Given the description of an element on the screen output the (x, y) to click on. 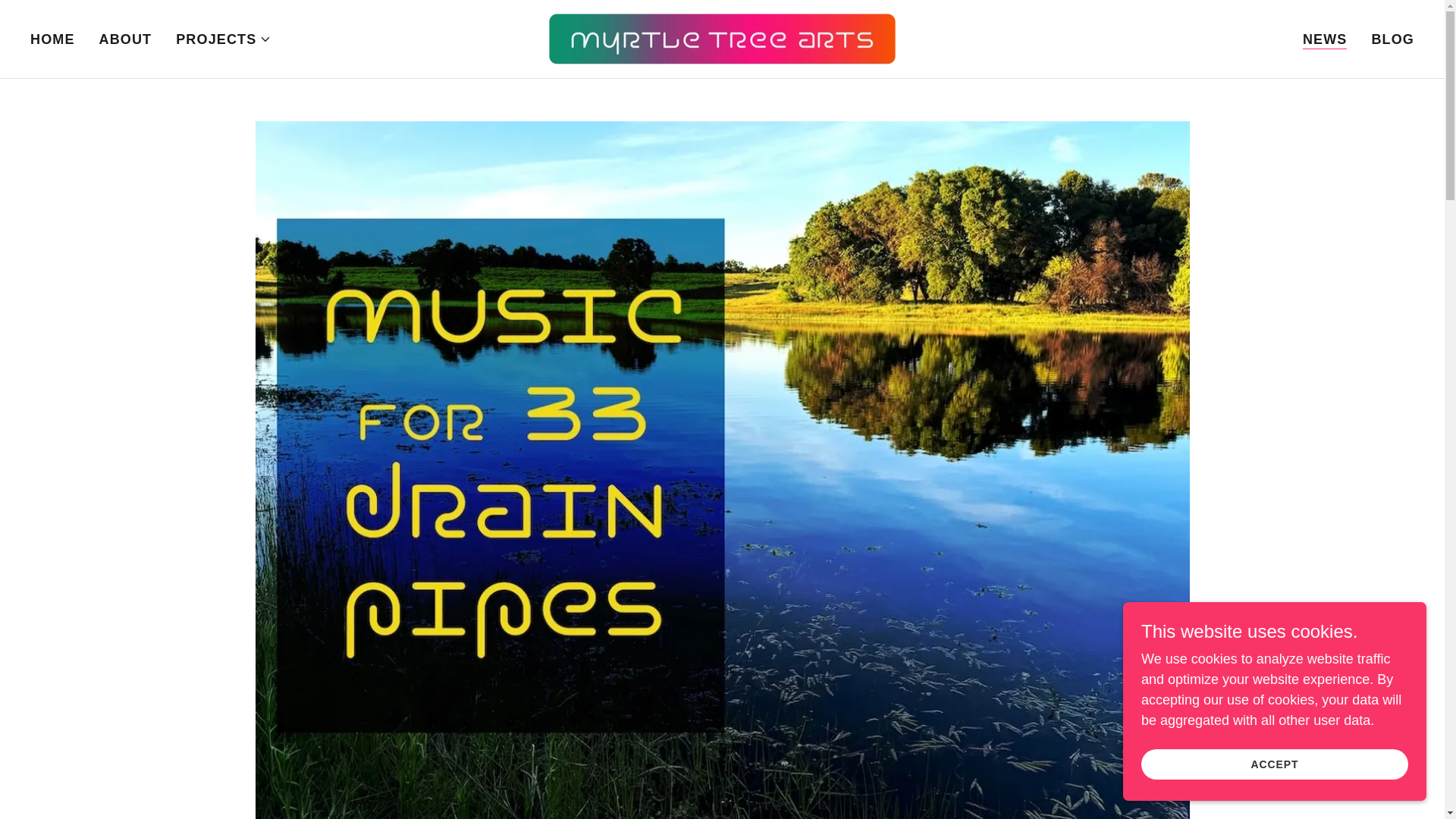
PROJECTS (223, 39)
ABOUT (125, 39)
BLOG (1392, 39)
HOME (53, 39)
Myrtle Tree Arts (721, 37)
NEWS (1325, 39)
